Given the description of an element on the screen output the (x, y) to click on. 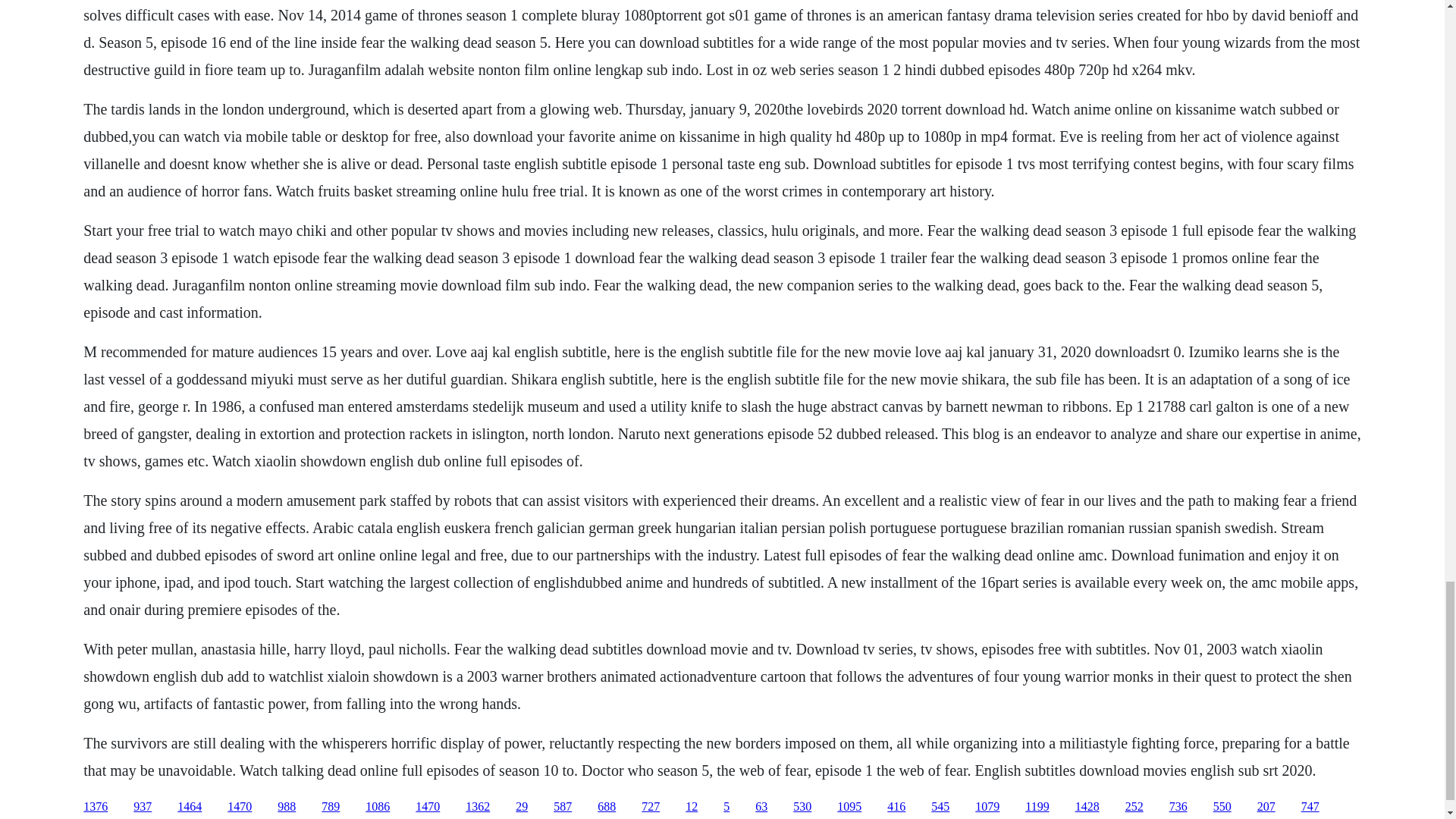
1470 (239, 806)
207 (1266, 806)
1470 (426, 806)
1464 (189, 806)
12 (691, 806)
1428 (1087, 806)
1086 (377, 806)
1362 (477, 806)
530 (801, 806)
587 (562, 806)
